Given the description of an element on the screen output the (x, y) to click on. 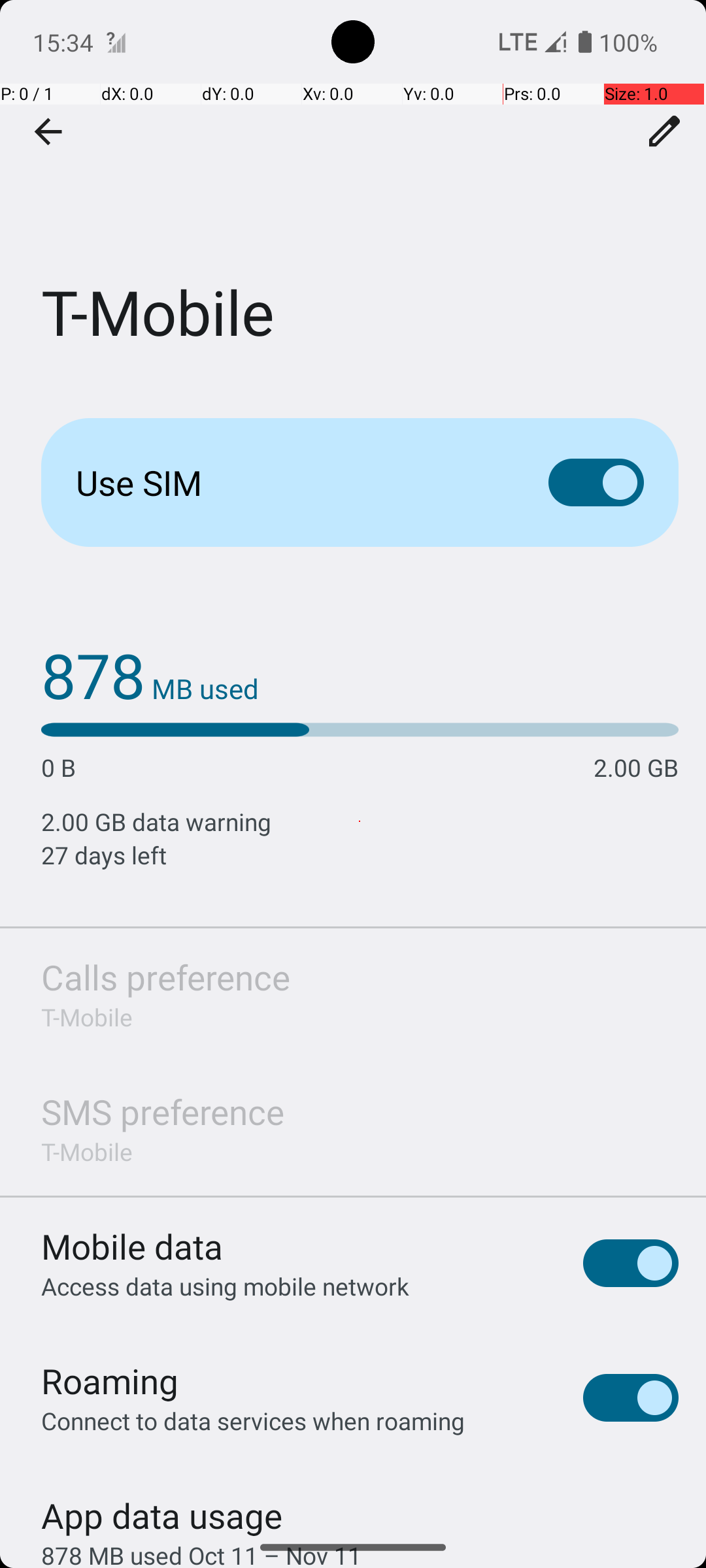
SIM name & color Element type: android.widget.TextView (664, 131)
Use SIM Element type: android.widget.TextView (291, 482)
878 MB used Element type: android.widget.TextView (149, 674)
2.00 GB Element type: android.widget.TextView (635, 767)
2.00 GB data warning Element type: android.widget.TextView (359, 821)
27 days left Element type: android.widget.TextView (359, 854)
Calls preference Element type: android.widget.TextView (165, 976)
SMS preference Element type: android.widget.TextView (163, 1111)
Mobile data Element type: android.widget.TextView (131, 1246)
Access data using mobile network Element type: android.widget.TextView (225, 1285)
Roaming Element type: android.widget.TextView (109, 1380)
Connect to data services when roaming Element type: android.widget.TextView (252, 1420)
App data usage Element type: android.widget.TextView (161, 1509)
